Given the description of an element on the screen output the (x, y) to click on. 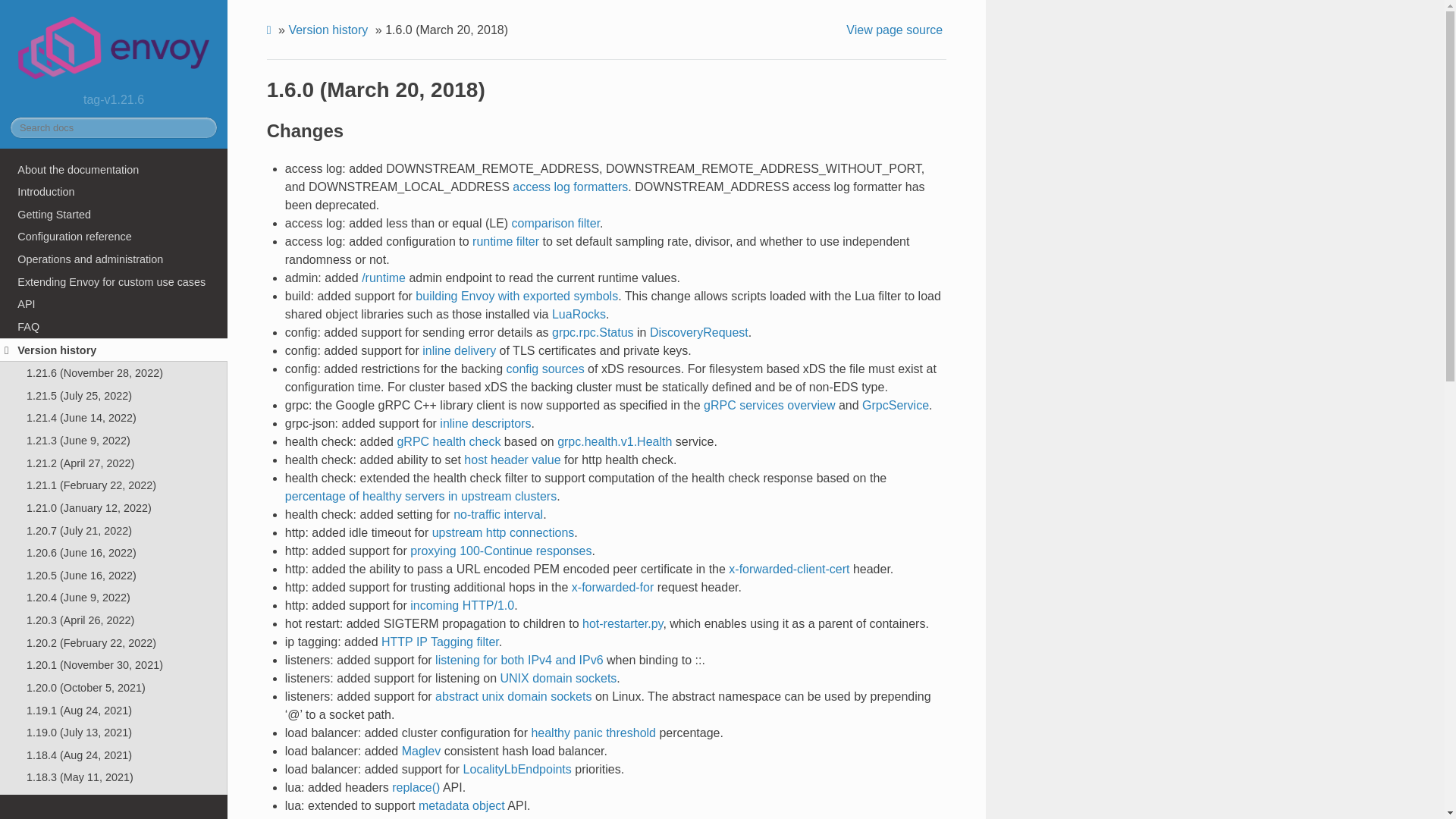
Configuration reference (113, 237)
FAQ (113, 326)
Operations and administration (113, 259)
About the documentation (113, 169)
Version history (113, 350)
Introduction (113, 191)
Getting Started (113, 214)
Extending Envoy for custom use cases (113, 282)
API (113, 304)
